Given the description of an element on the screen output the (x, y) to click on. 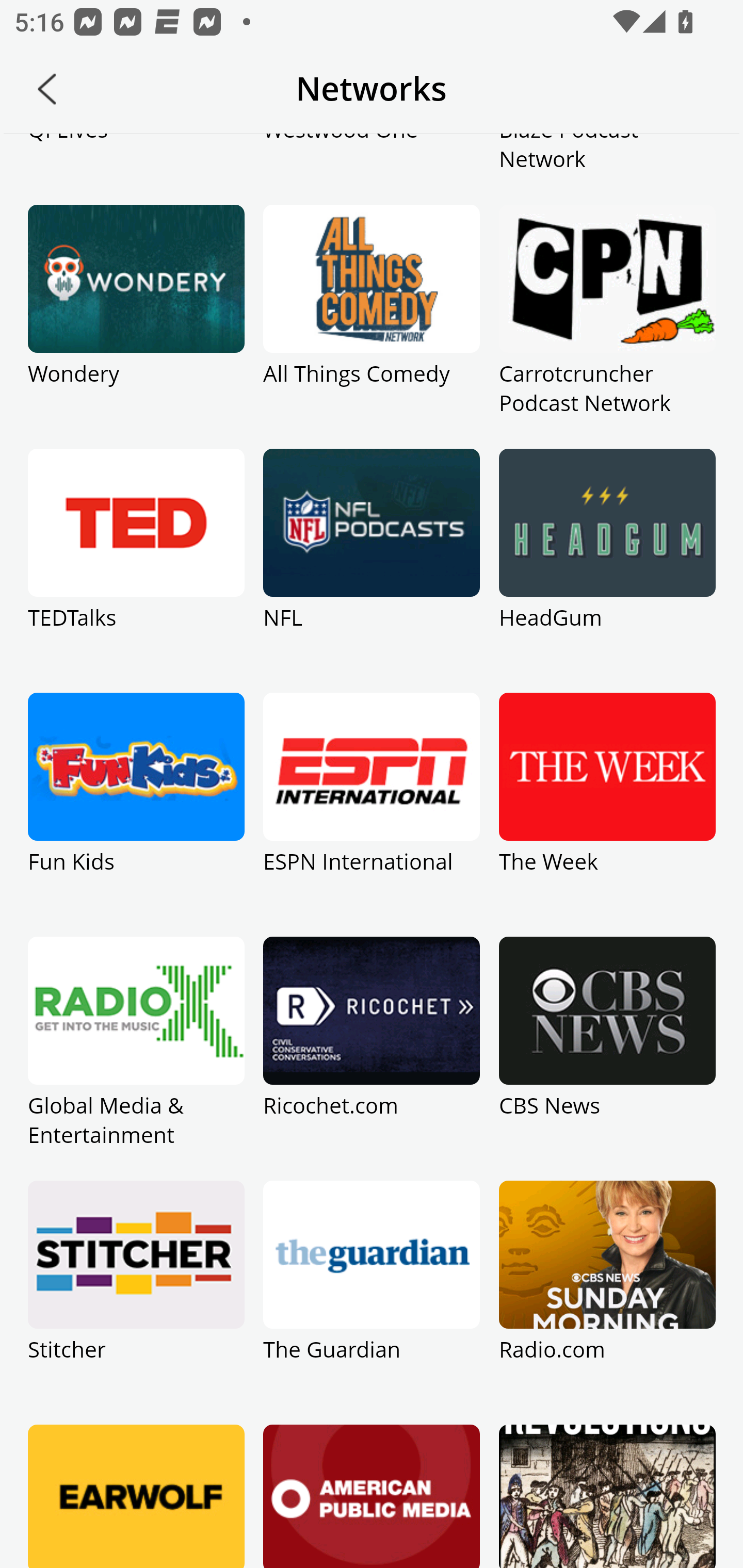
Back (46, 88)
Wondery (135, 326)
All Things Comedy (371, 326)
Carrotcruncher Podcast Network (606, 326)
TEDTalks (135, 570)
NFL (371, 570)
HeadGum (606, 570)
Fun Kids (135, 814)
ESPN International (371, 814)
The Week (606, 814)
Global Media & Entertainment (135, 1058)
Ricochet.com (371, 1058)
CBS News (606, 1058)
Stitcher (135, 1302)
The Guardian (371, 1302)
Radio.com (606, 1302)
